Given the description of an element on the screen output the (x, y) to click on. 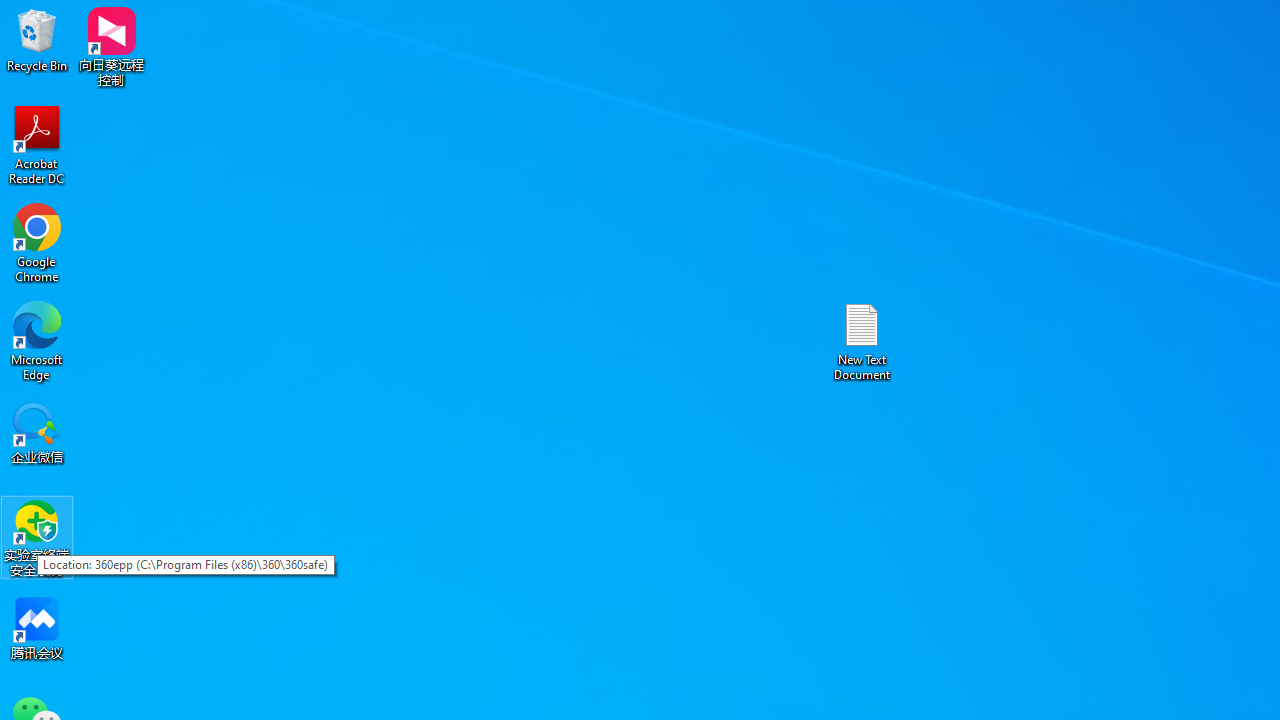
Google Chrome (37, 242)
Recycle Bin (37, 39)
New Text Document (861, 340)
Acrobat Reader DC (37, 144)
Microsoft Edge (37, 340)
